Given the description of an element on the screen output the (x, y) to click on. 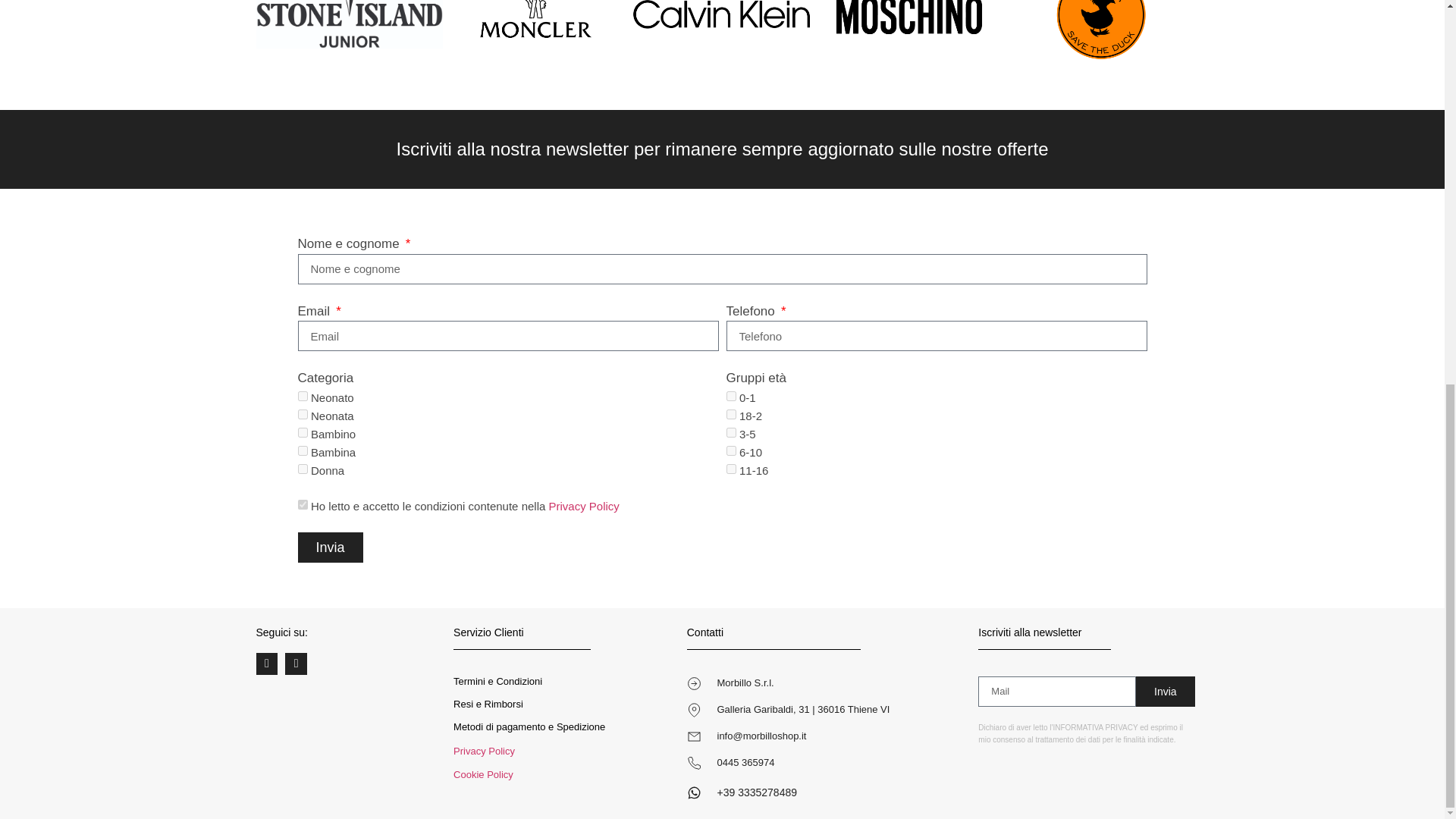
Bambina (302, 450)
Neonata  (302, 414)
0-1 (731, 396)
Privacy Policy (584, 505)
Donna (302, 469)
3-5 (731, 432)
Bambino (302, 432)
on (302, 504)
Privacy Policy  (483, 750)
Cookie Policy (482, 774)
Neonato (302, 396)
Cookie Policy  (482, 774)
Privacy Policy  (584, 505)
18-2 (731, 414)
6-10 (731, 450)
